Given the description of an element on the screen output the (x, y) to click on. 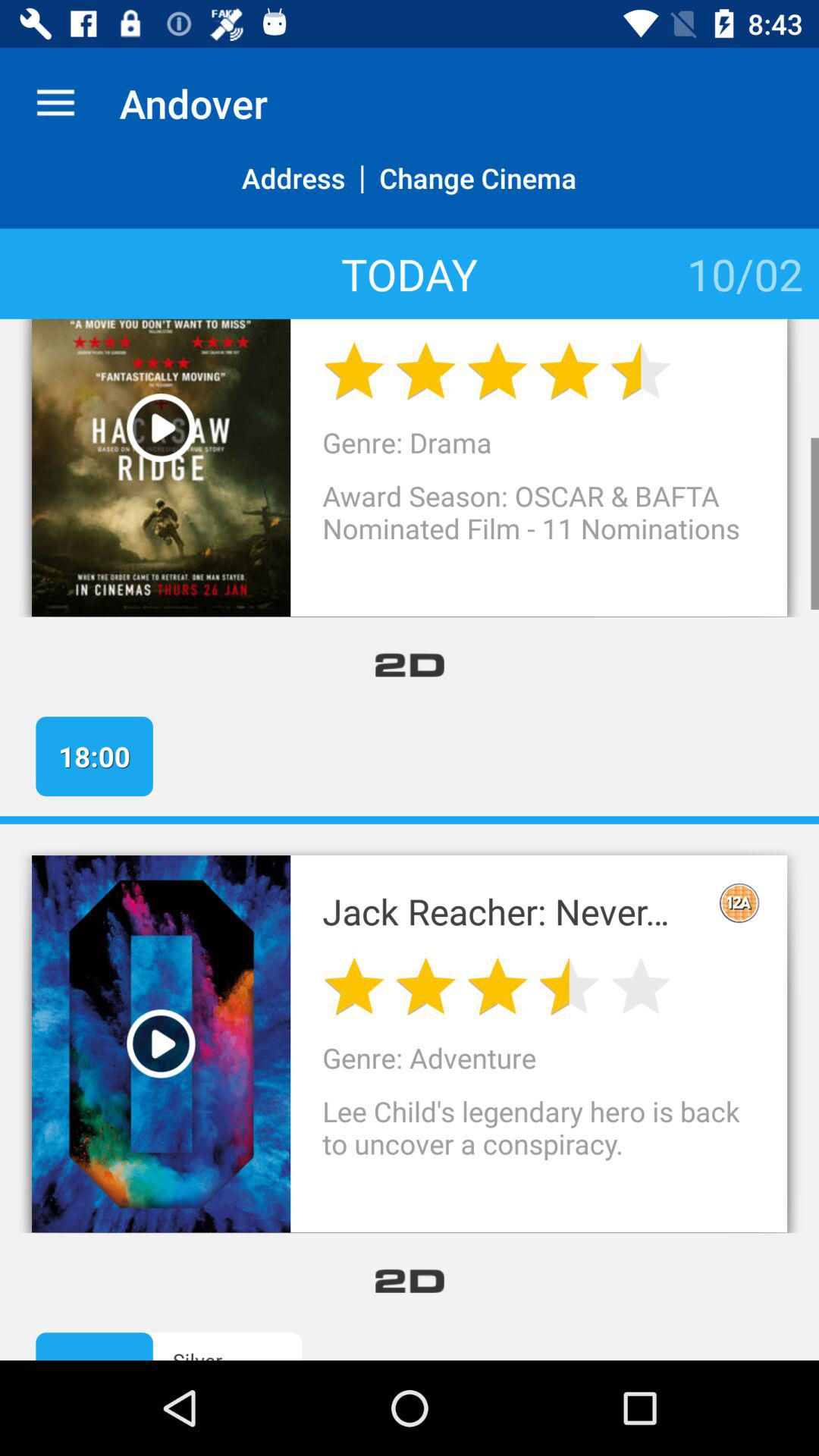
select the item above the 18:00 app (409, 664)
